Given the description of an element on the screen output the (x, y) to click on. 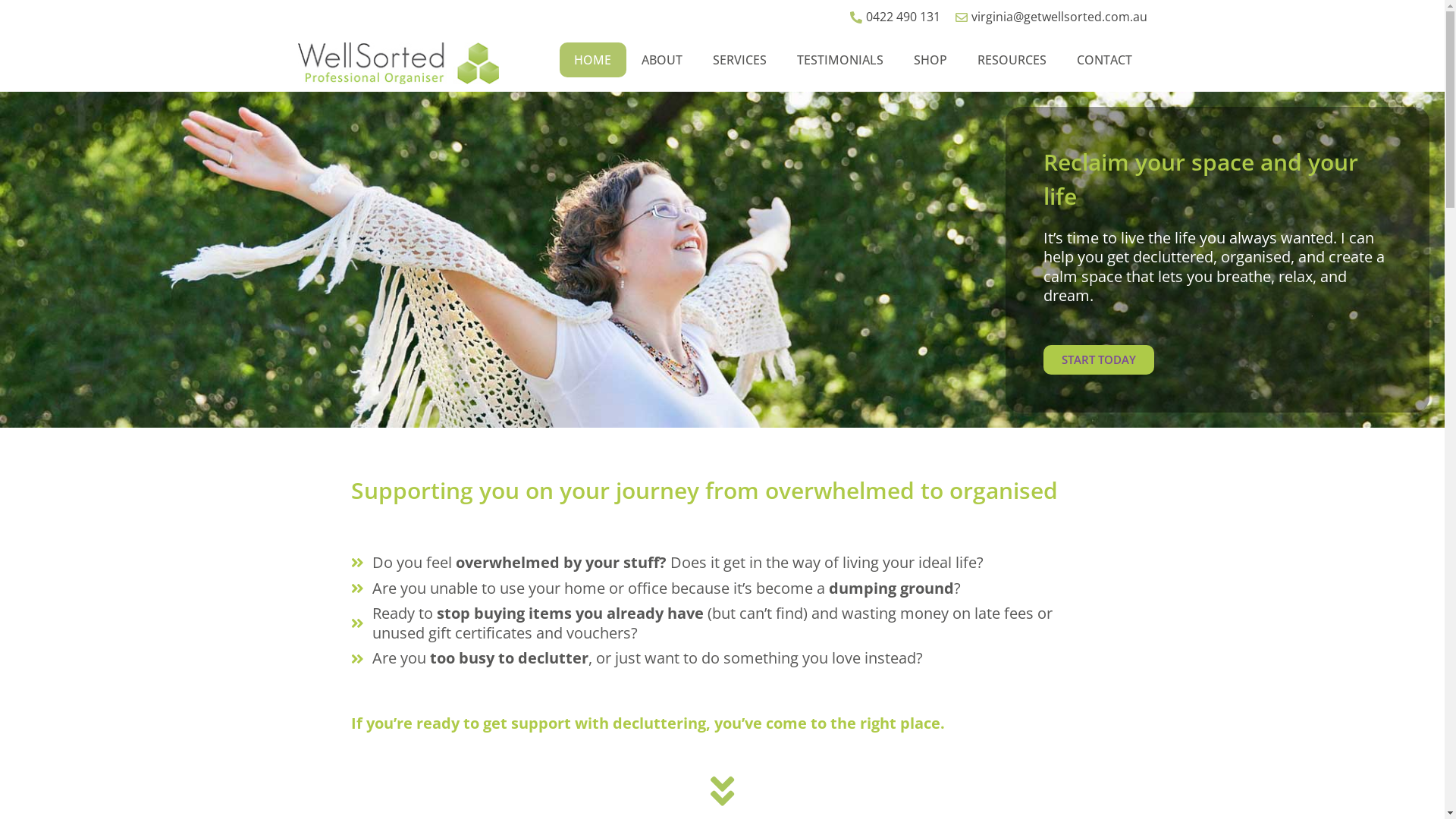
CONTACT Element type: text (1104, 59)
virginia@getwellsorted.com.au Element type: text (1049, 17)
SERVICES Element type: text (739, 59)
ABOUT Element type: text (661, 59)
SHOP Element type: text (930, 59)
START TODAY Element type: text (1098, 359)
0422 490 131 Element type: text (892, 17)
RESOURCES Element type: text (1011, 59)
HOME Element type: text (593, 59)
TESTIMONIALS Element type: text (839, 59)
